Given the description of an element on the screen output the (x, y) to click on. 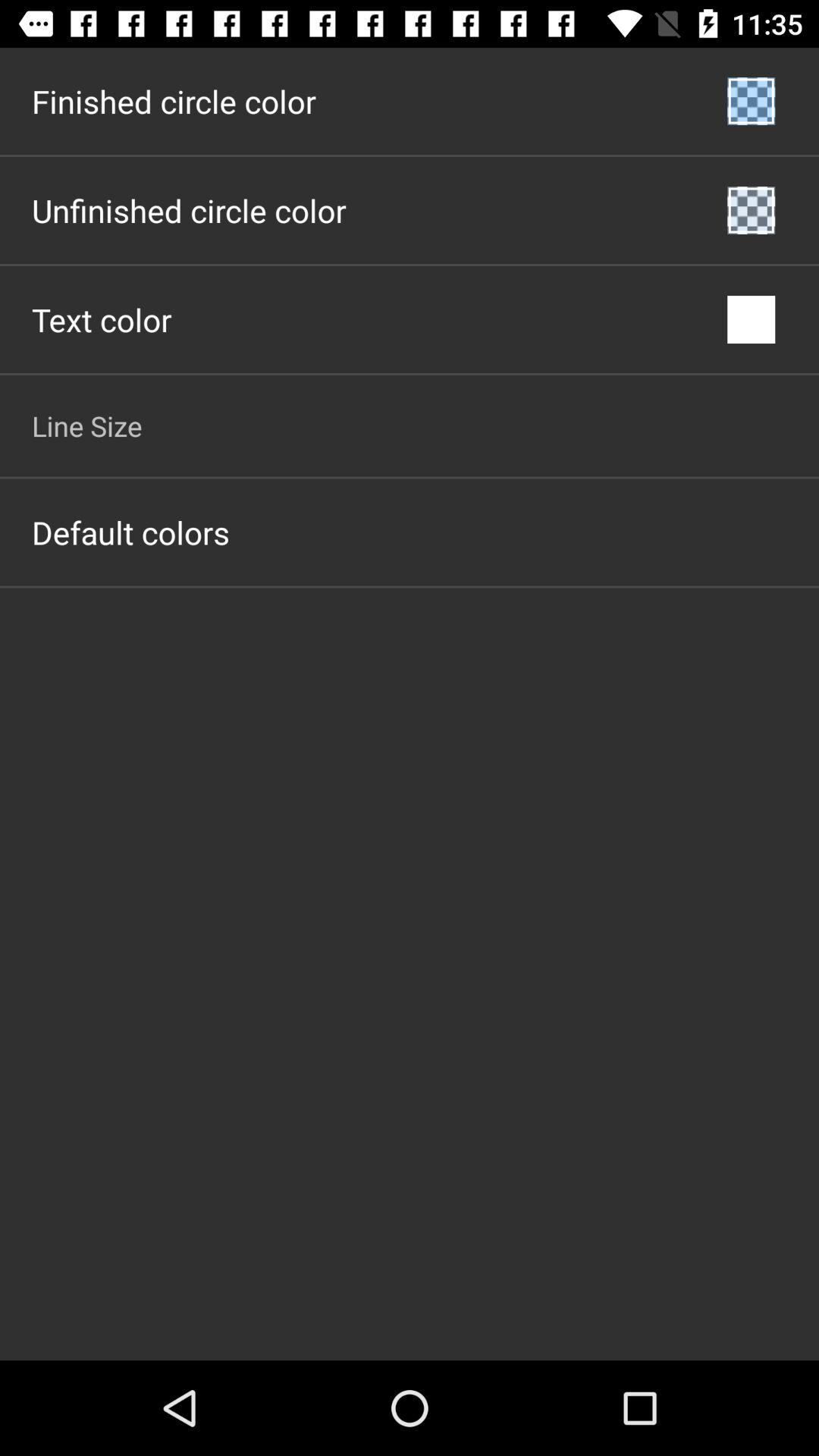
choose the app below the line size item (130, 531)
